Given the description of an element on the screen output the (x, y) to click on. 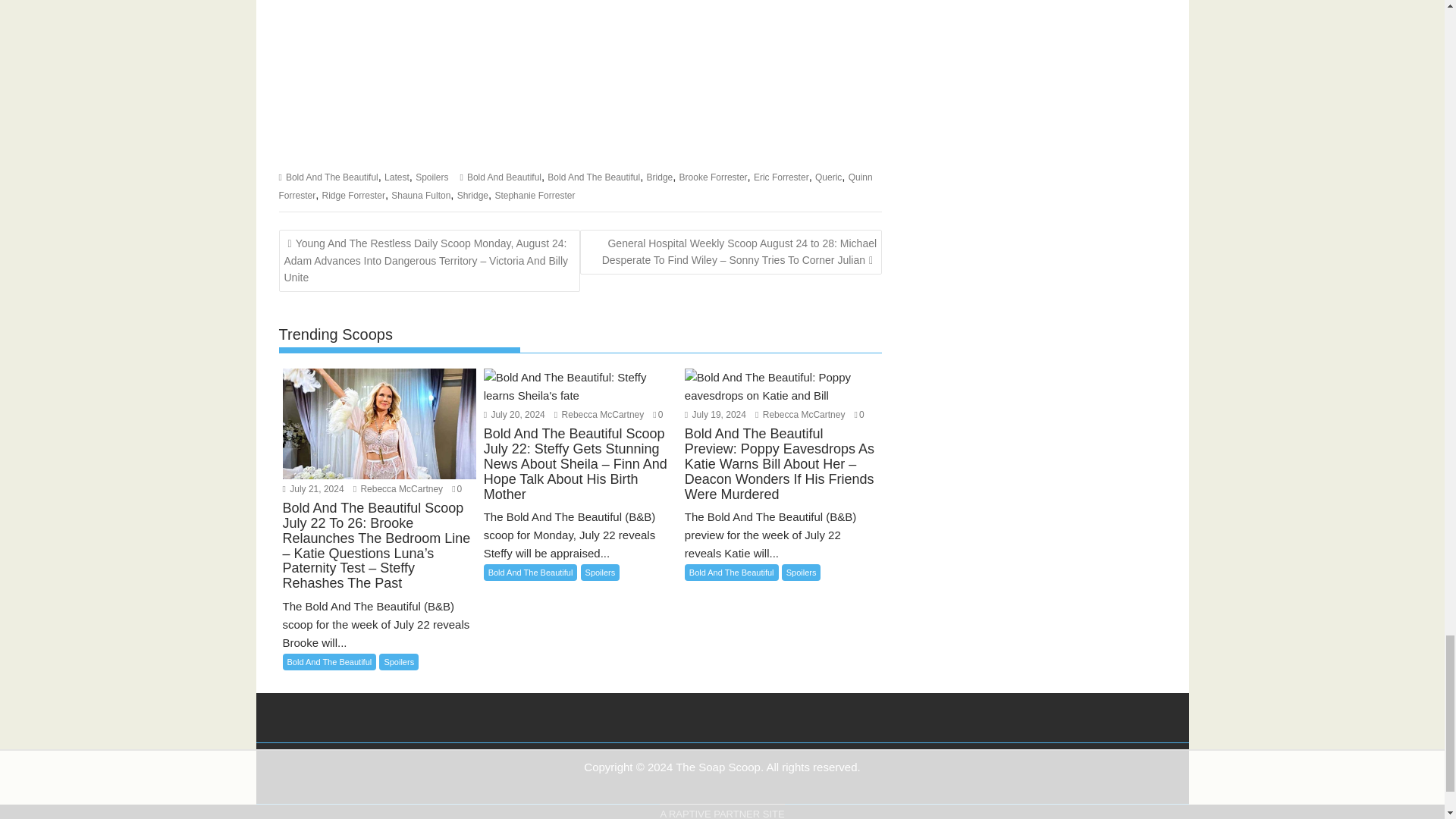
Rebecca McCartney (397, 489)
Rebecca McCartney (598, 414)
Rebecca McCartney (799, 414)
